Given the description of an element on the screen output the (x, y) to click on. 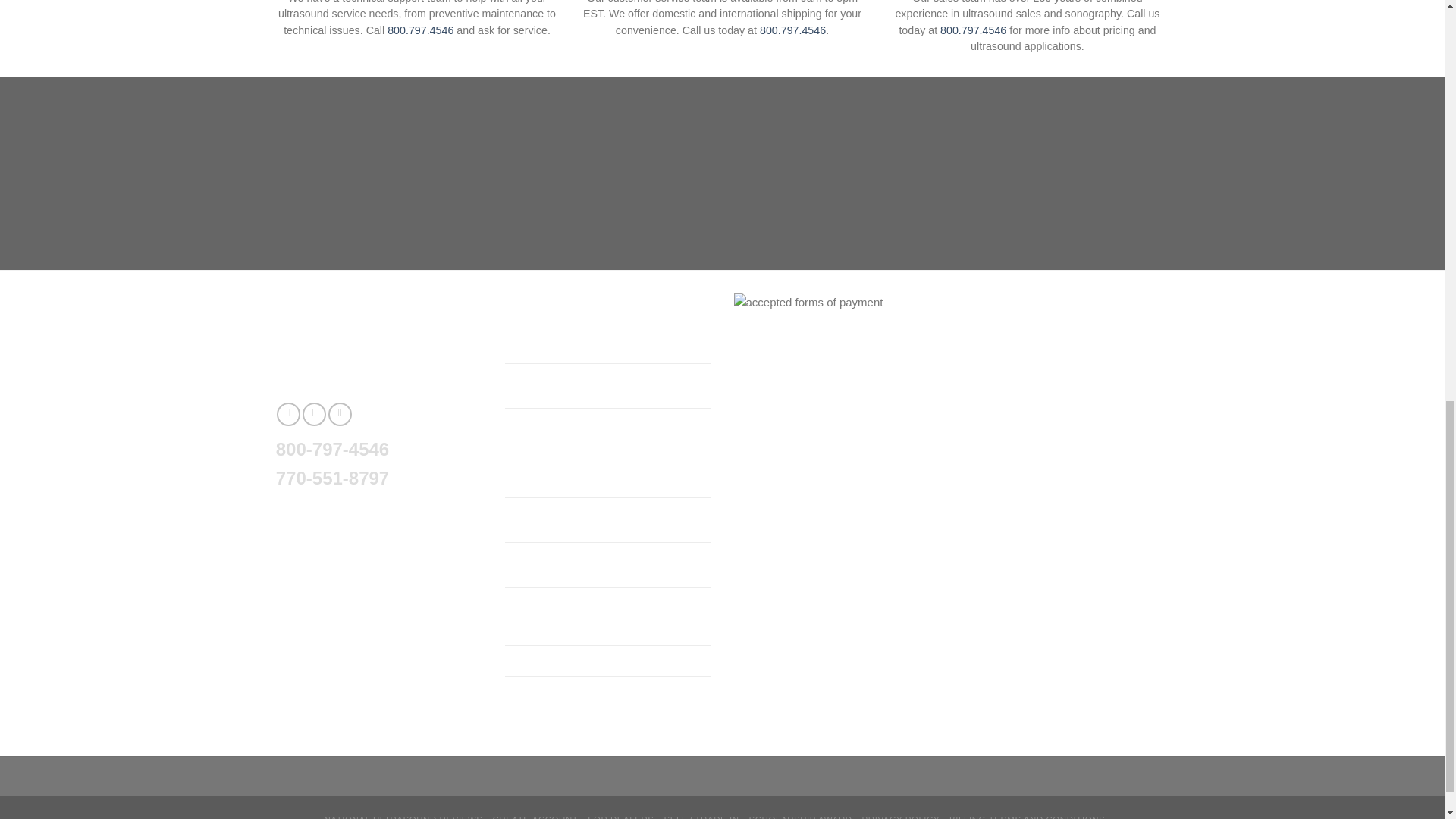
Follow on LinkedIn (340, 413)
Follow on Twitter (314, 413)
Follow on Facebook (287, 413)
